Given the description of an element on the screen output the (x, y) to click on. 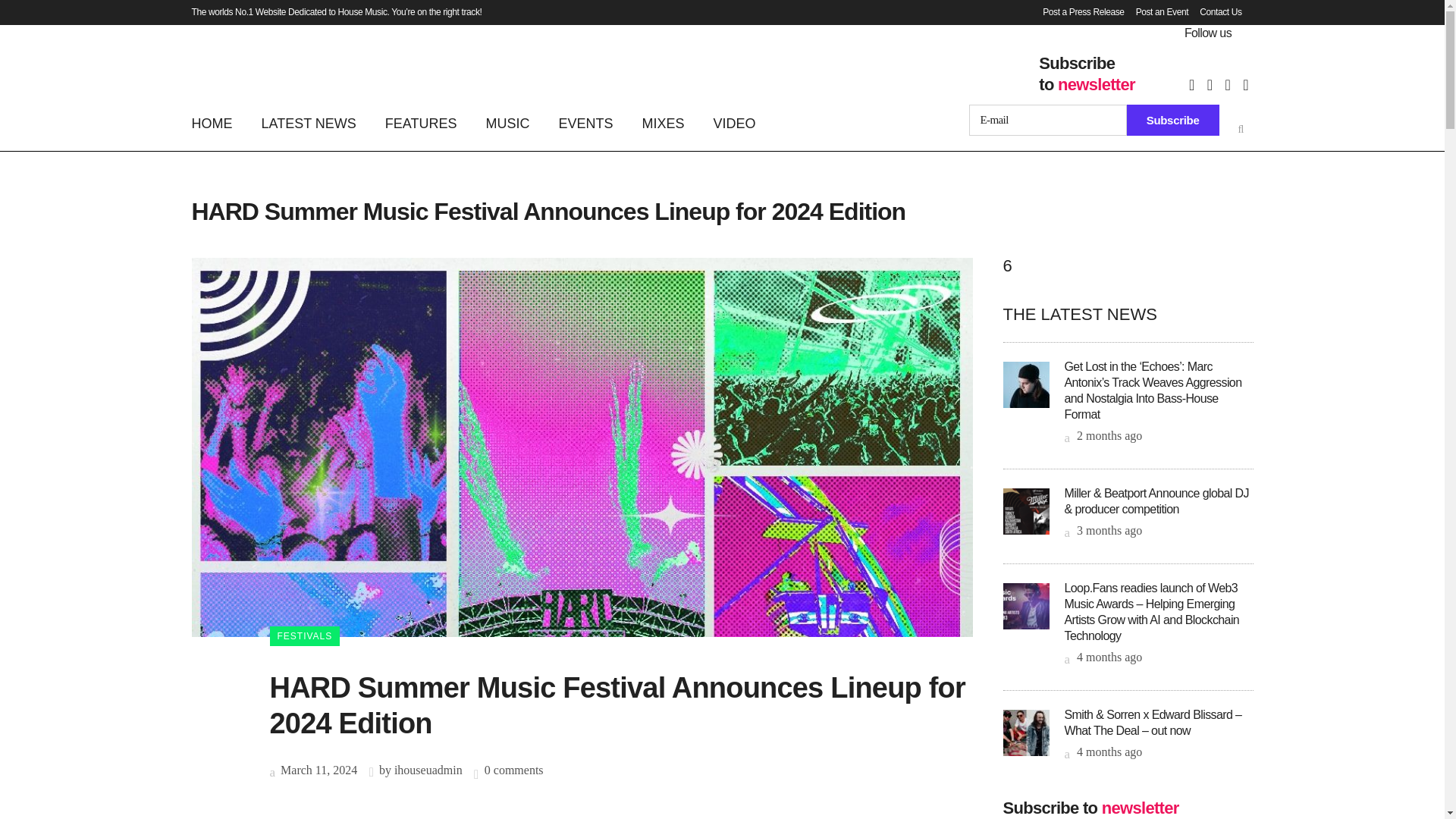
Subscribe (1173, 119)
LATEST NEWS (309, 123)
HOME (218, 123)
Post an Event (1156, 12)
E-mail (1047, 119)
Post a Press Release (1077, 12)
Contact Us (1214, 12)
FEATURES (421, 123)
